Given the description of an element on the screen output the (x, y) to click on. 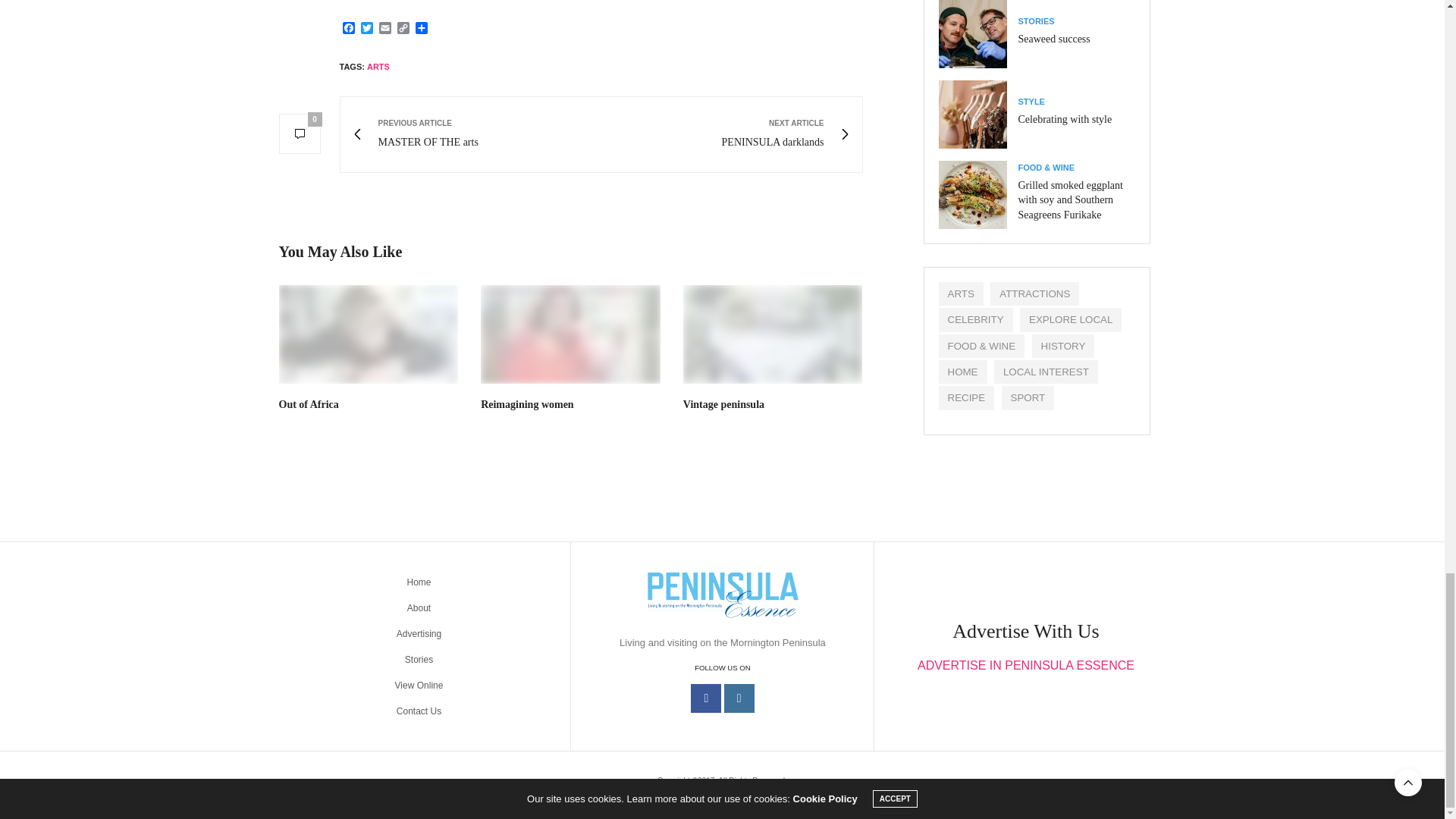
ARTS (378, 66)
Out of Africa (309, 404)
Reimagining women (526, 404)
Email (475, 134)
Twitter (384, 29)
Facebook (366, 29)
Out of Africa (348, 29)
Copy Link (726, 134)
